Given the description of an element on the screen output the (x, y) to click on. 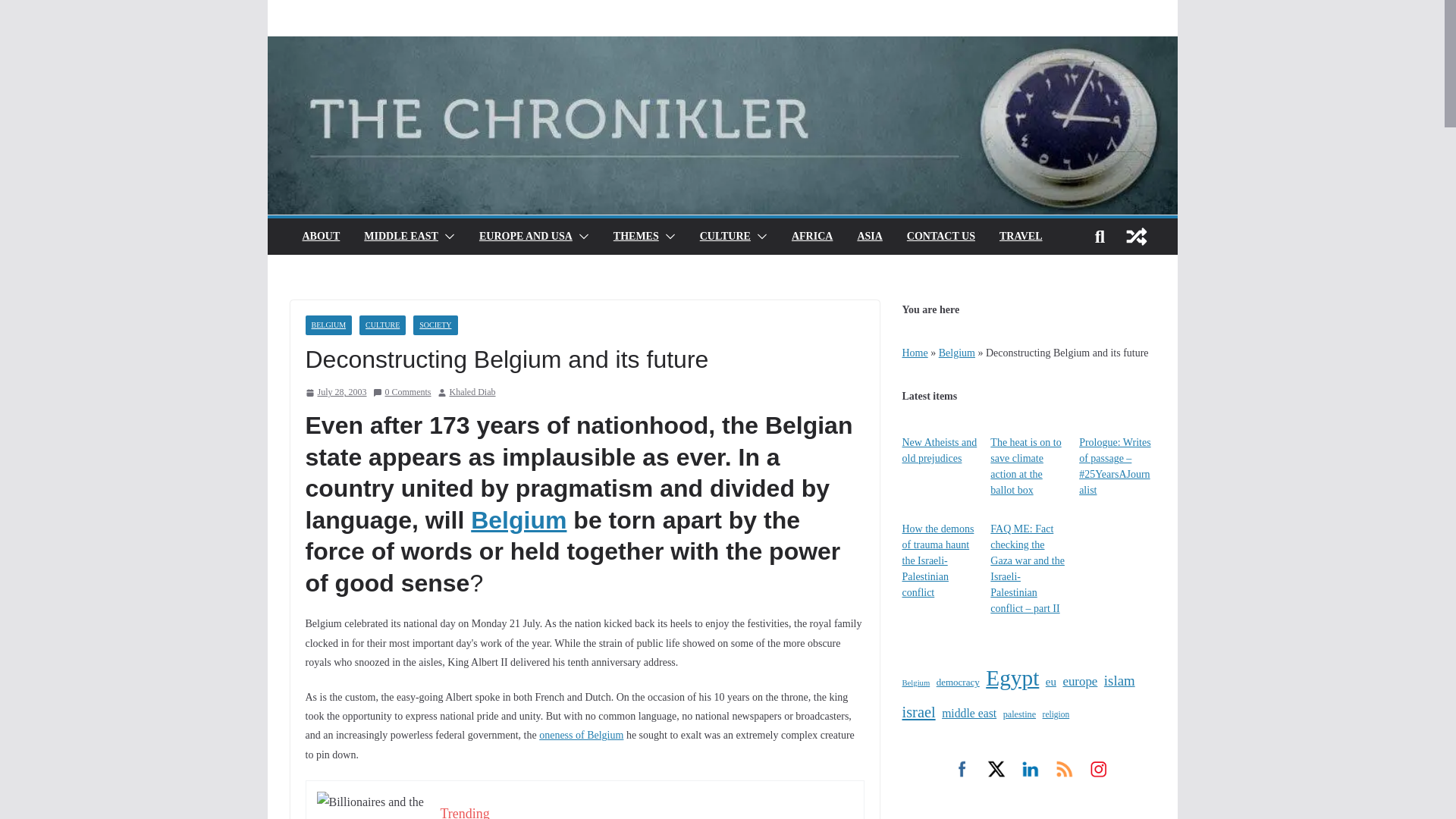
Posts tagged with Belgium (518, 519)
Belgium's endless existential identity crisis (580, 735)
16:03 (335, 392)
ABOUT (320, 236)
CULTURE (725, 236)
THEMES (635, 236)
View a random post (1136, 236)
Khaled Diab (472, 392)
EUROPE AND USA (525, 236)
MIDDLE EAST (401, 236)
The Chronikler (721, 46)
